Given the description of an element on the screen output the (x, y) to click on. 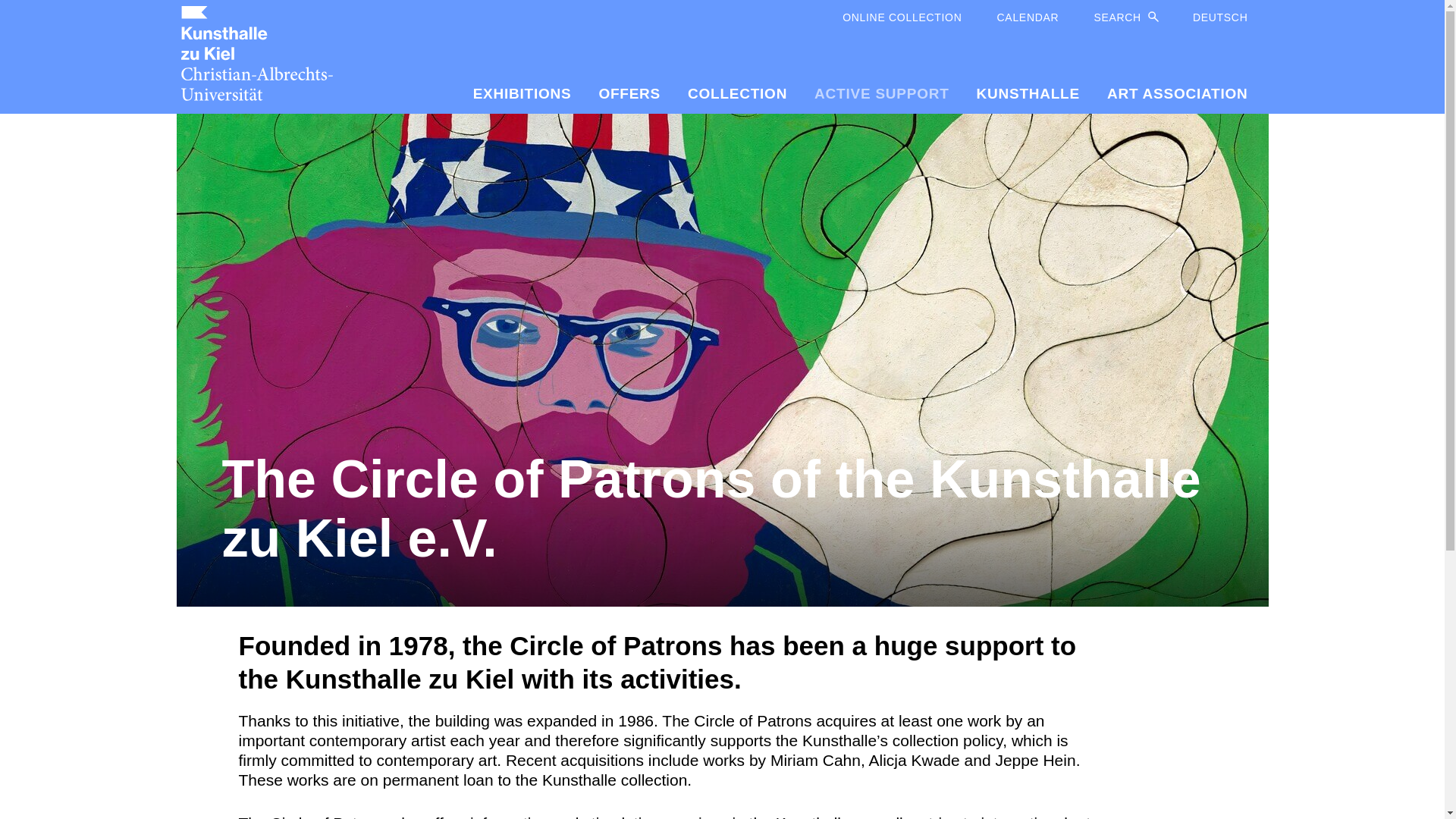
DEUTSCH (1210, 18)
The Circle of Patrons of the Kunsthalle zu Kiel e.V.  (722, 512)
KUNSTHALLE (1027, 93)
ACTIVE SUPPORT (881, 93)
ONLINE COLLECTION (901, 18)
EXHIBITIONS (522, 93)
The Circle of Patrons of the Kunsthalle zu Kiel e.V. (722, 512)
ART ASSOCIATION (1170, 93)
COLLECTION (737, 93)
SEARCH (1116, 18)
